Given the description of an element on the screen output the (x, y) to click on. 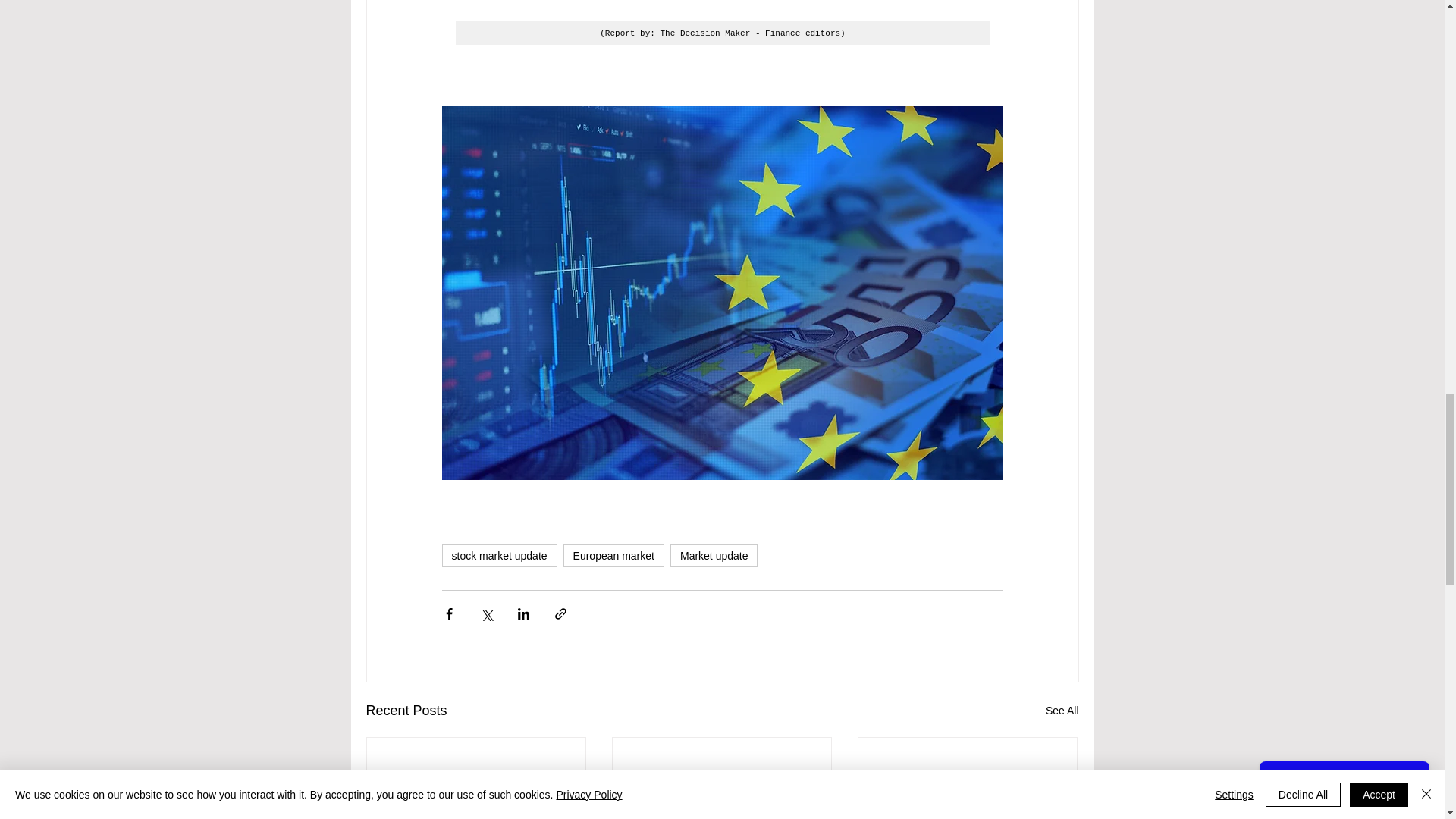
See All (1061, 710)
stock market update (498, 555)
European market (613, 555)
Market update (713, 555)
